Given the description of an element on the screen output the (x, y) to click on. 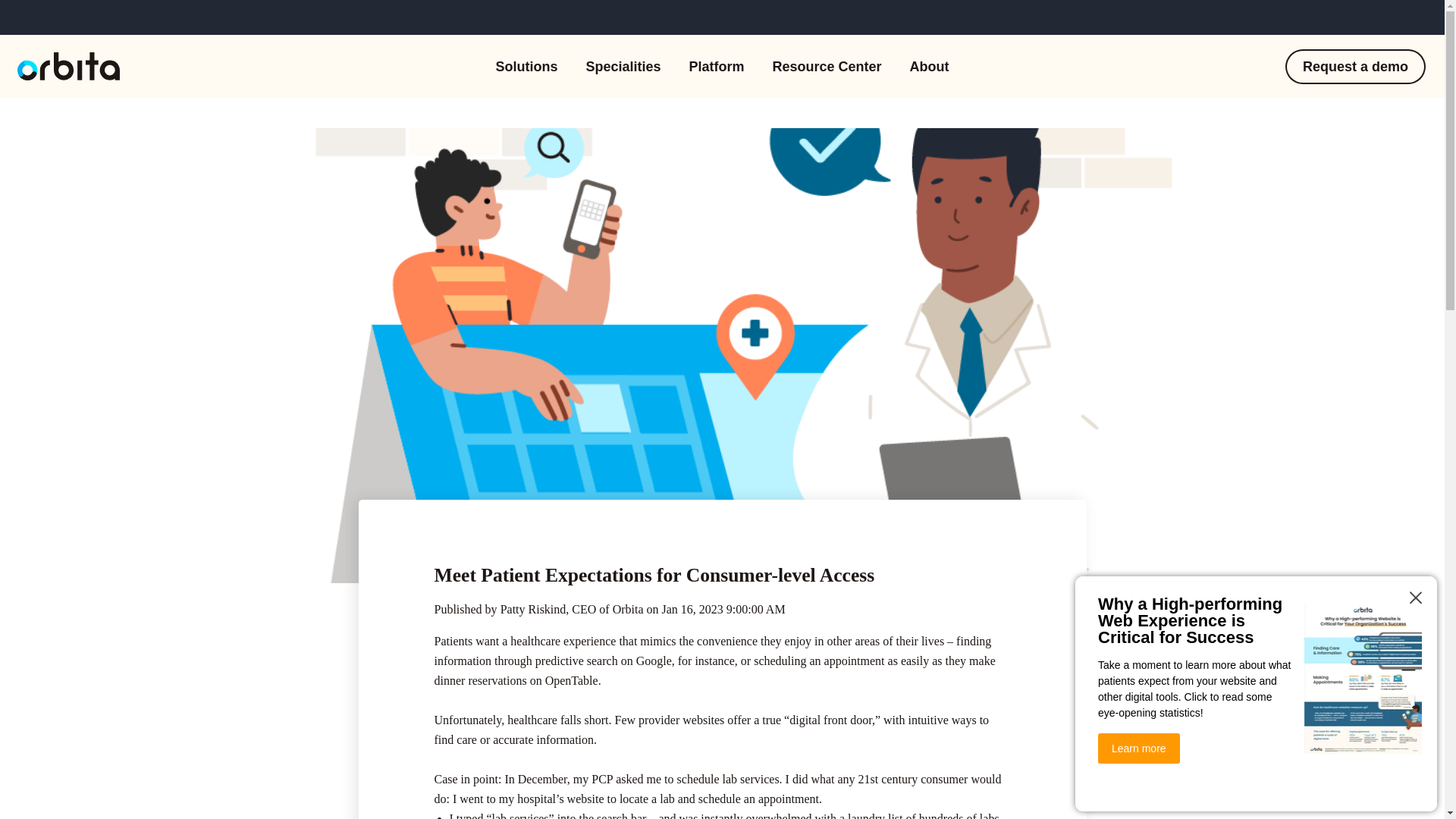
Orbita (68, 66)
Solutions (526, 65)
About (929, 65)
Resource Center (827, 65)
Platform (716, 65)
Patty Riskind, CEO of Orbita (571, 608)
Request a demo (1355, 65)
Popup CTA (1256, 693)
Specialities (623, 65)
